Given the description of an element on the screen output the (x, y) to click on. 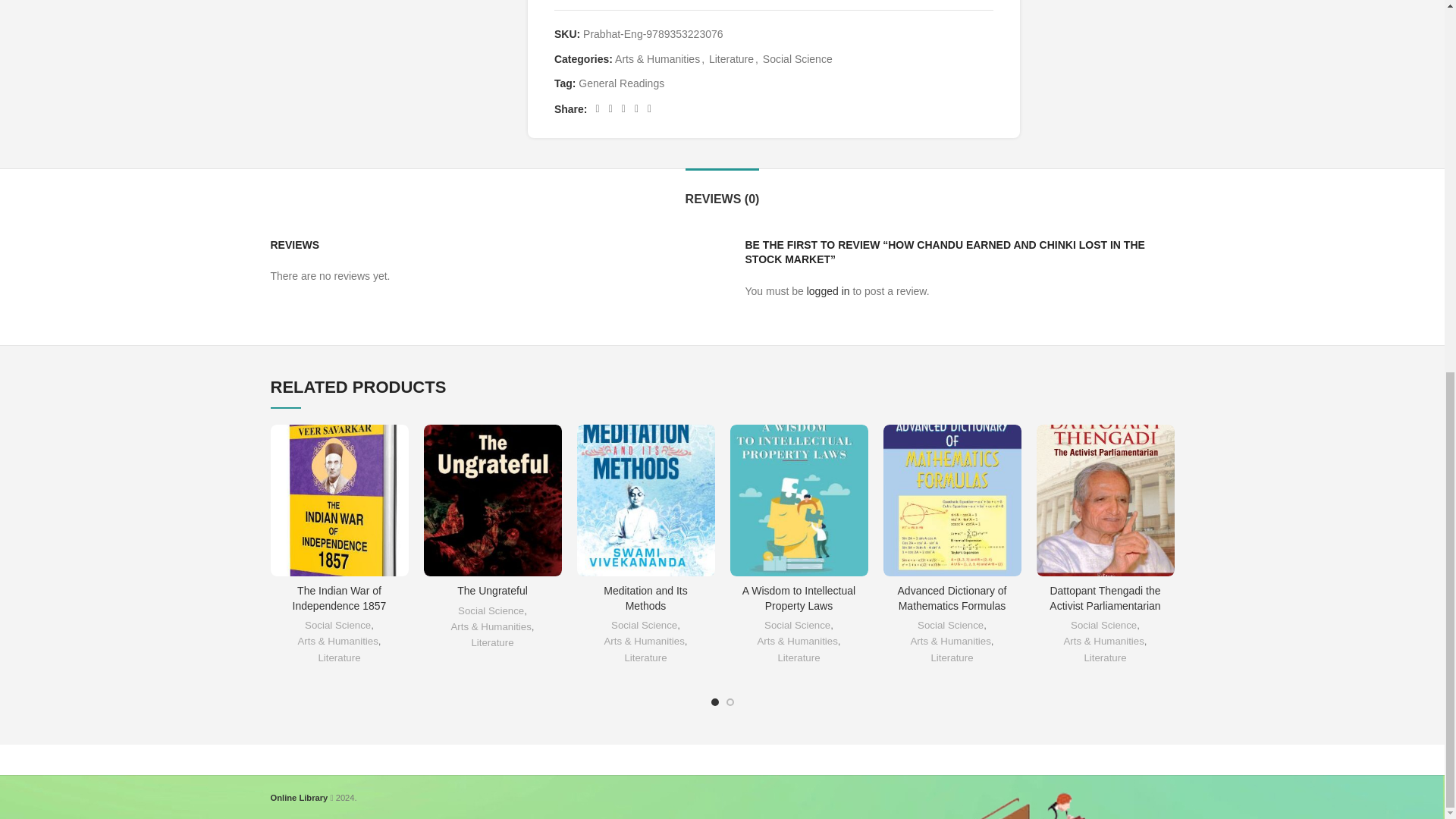
General Readings (620, 82)
Social Science (797, 59)
Literature (731, 59)
